Given the description of an element on the screen output the (x, y) to click on. 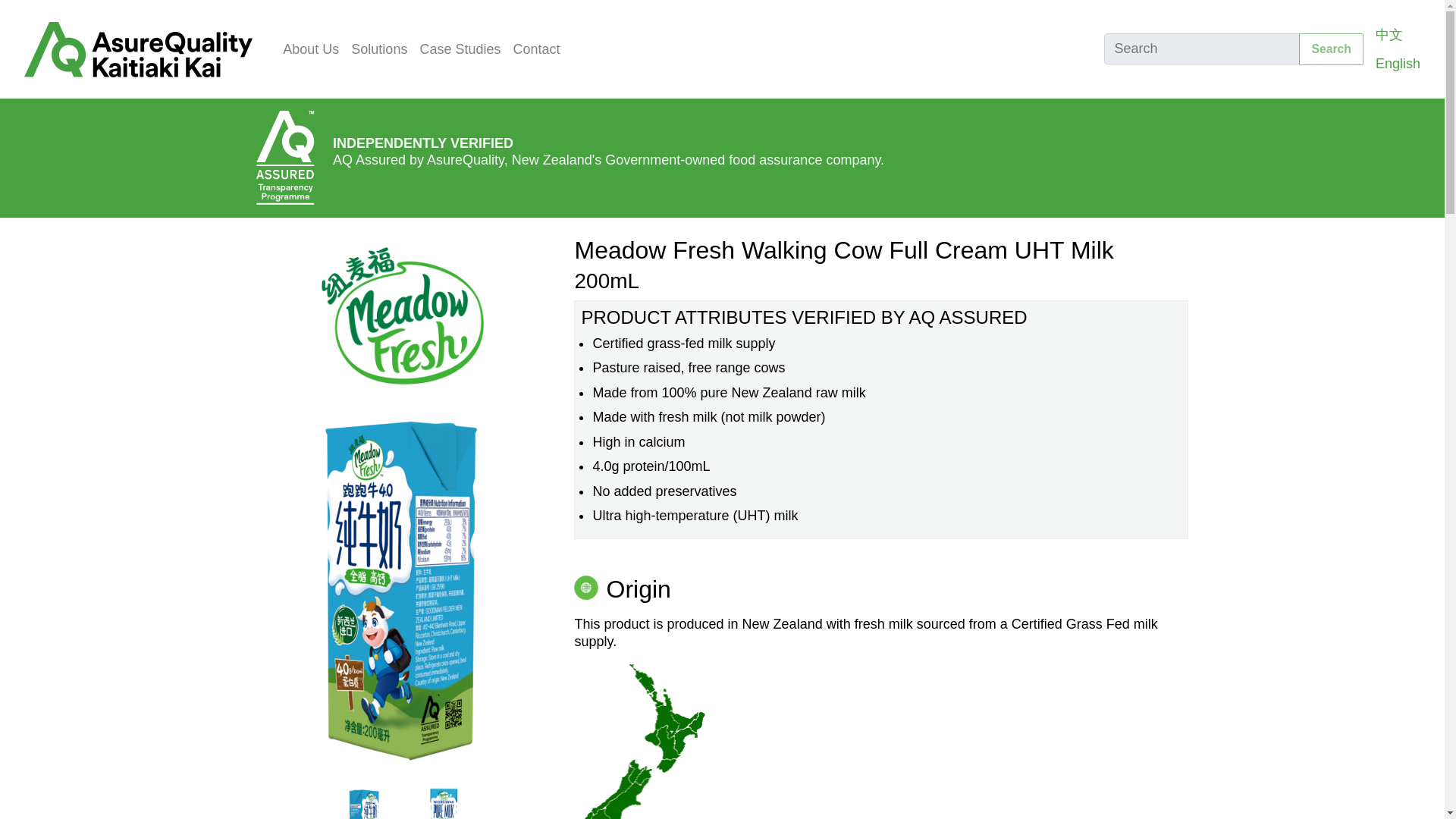
Search (1330, 49)
About Us (310, 49)
Case Studies (459, 49)
English (1397, 63)
Solutions (379, 49)
Origin (621, 588)
Contact (536, 49)
